Given the description of an element on the screen output the (x, y) to click on. 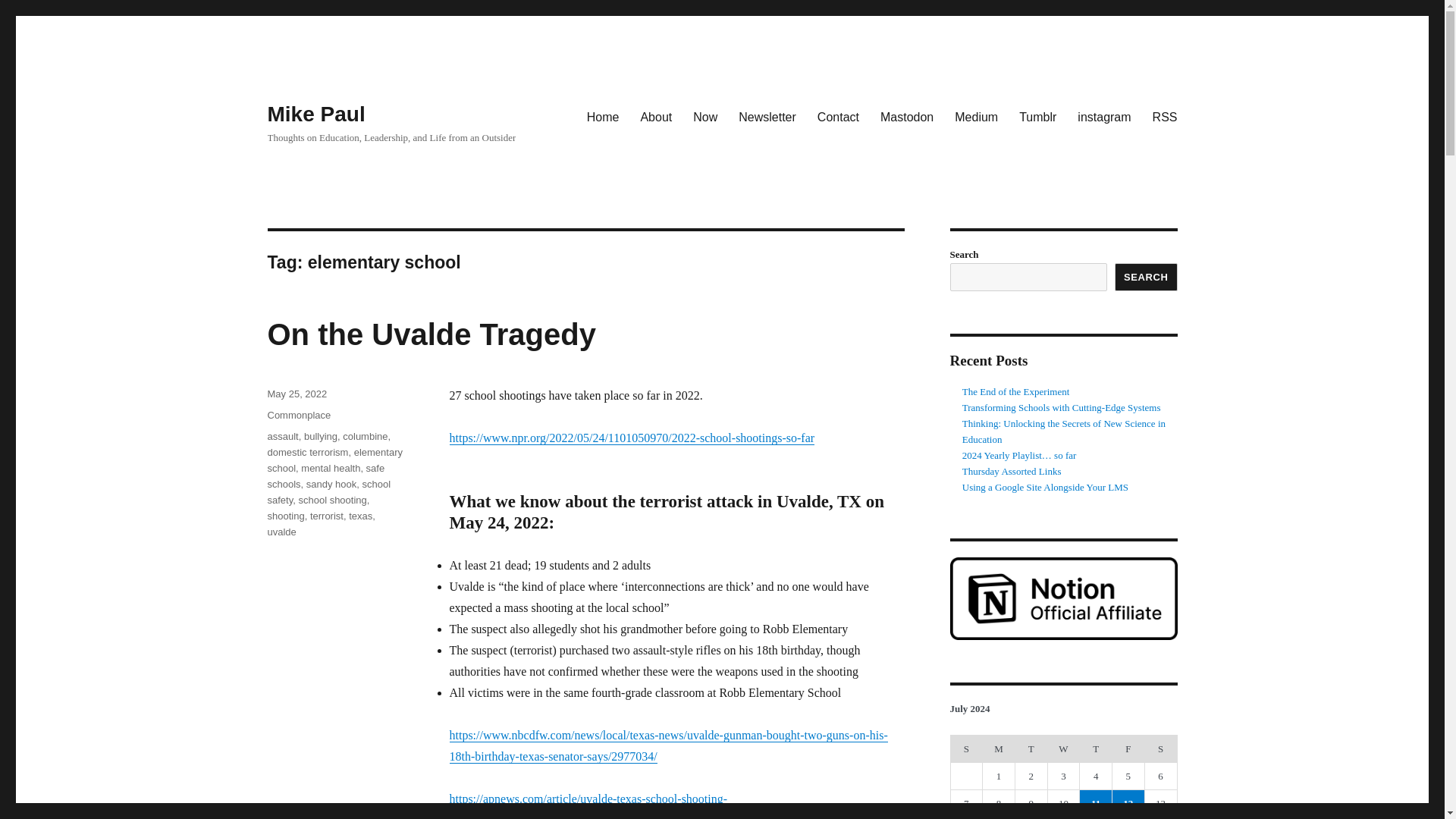
Thursday (1096, 748)
columbine (364, 436)
Contact (837, 116)
Mike Paul (315, 114)
Home (603, 116)
instagram (1104, 116)
Medium (976, 116)
sandy hook (330, 483)
May 25, 2022 (296, 393)
Friday (1128, 748)
domestic terrorism (306, 451)
On the Uvalde Tragedy (430, 334)
Monday (998, 748)
assault (282, 436)
school shooting (332, 500)
